Given the description of an element on the screen output the (x, y) to click on. 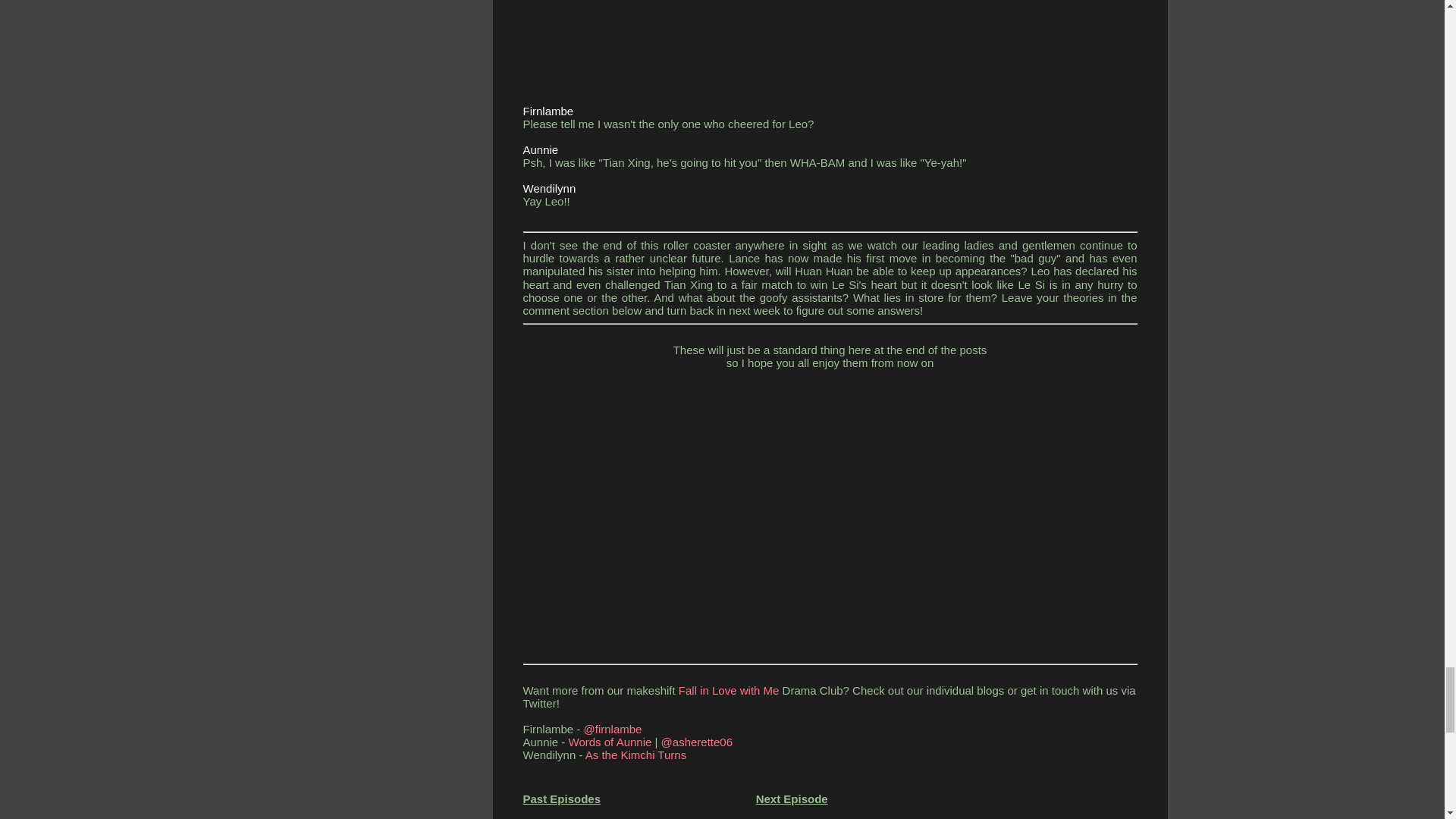
Words of Aunnie (610, 741)
 Fall in Love with Me (726, 689)
As the Kimchi Turns (635, 754)
